Given the description of an element on the screen output the (x, y) to click on. 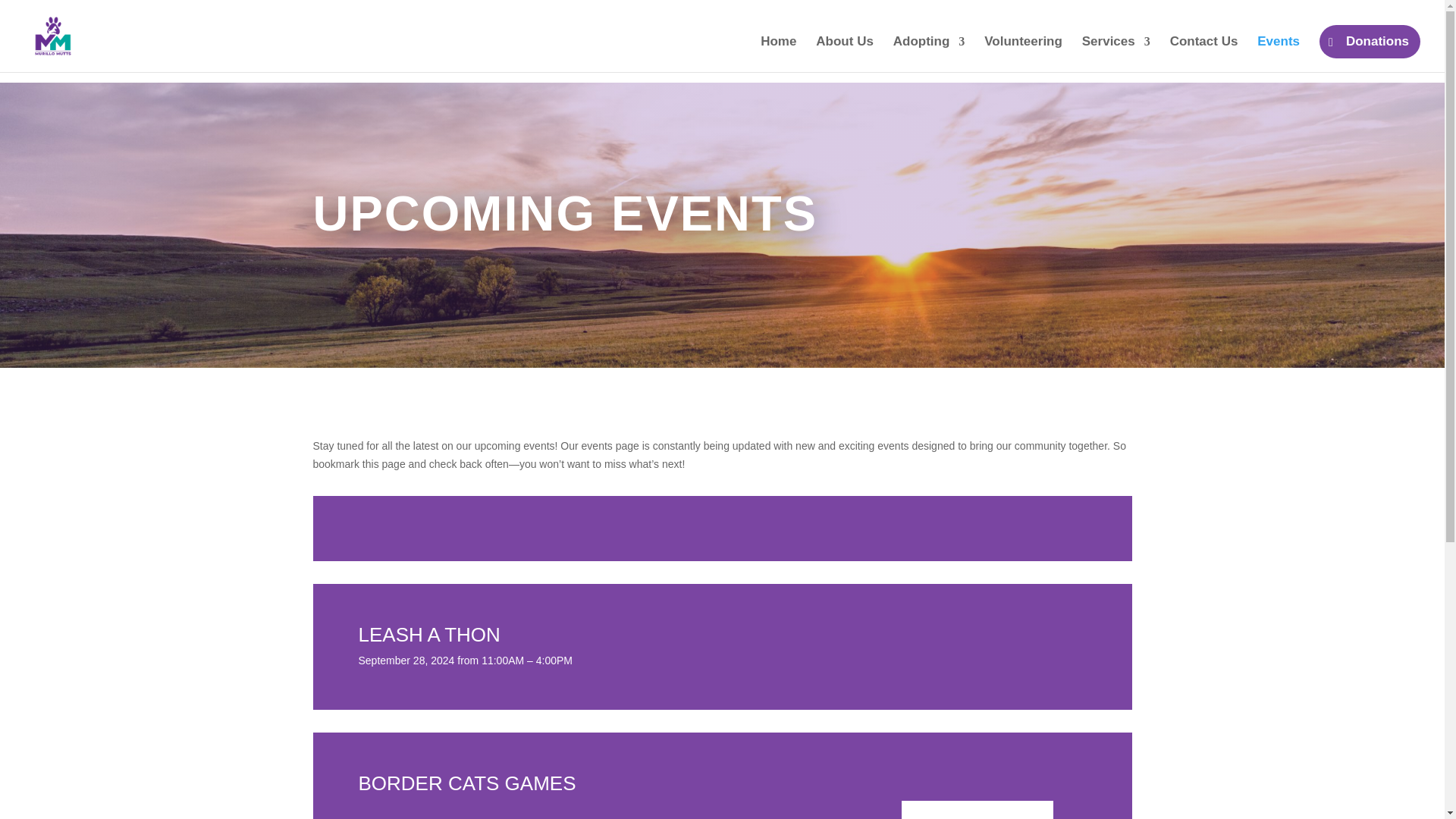
About Us (844, 54)
Home (778, 54)
Events (1278, 54)
Volunteering (1023, 54)
Contact Us (1204, 54)
Services (1115, 54)
Adopting (929, 54)
